Given the description of an element on the screen output the (x, y) to click on. 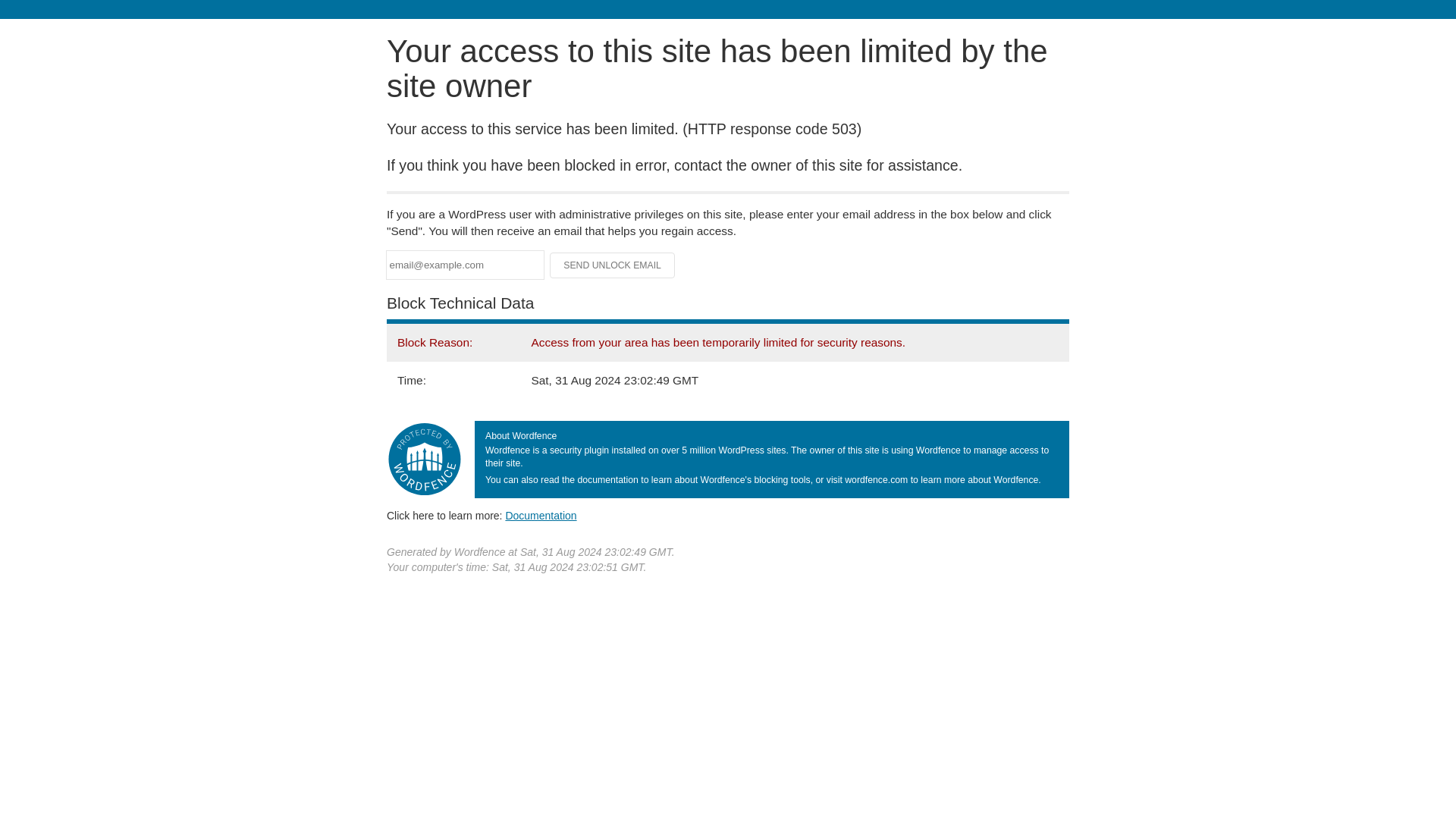
Send Unlock Email (612, 265)
Documentation (540, 515)
Send Unlock Email (612, 265)
